Given the description of an element on the screen output the (x, y) to click on. 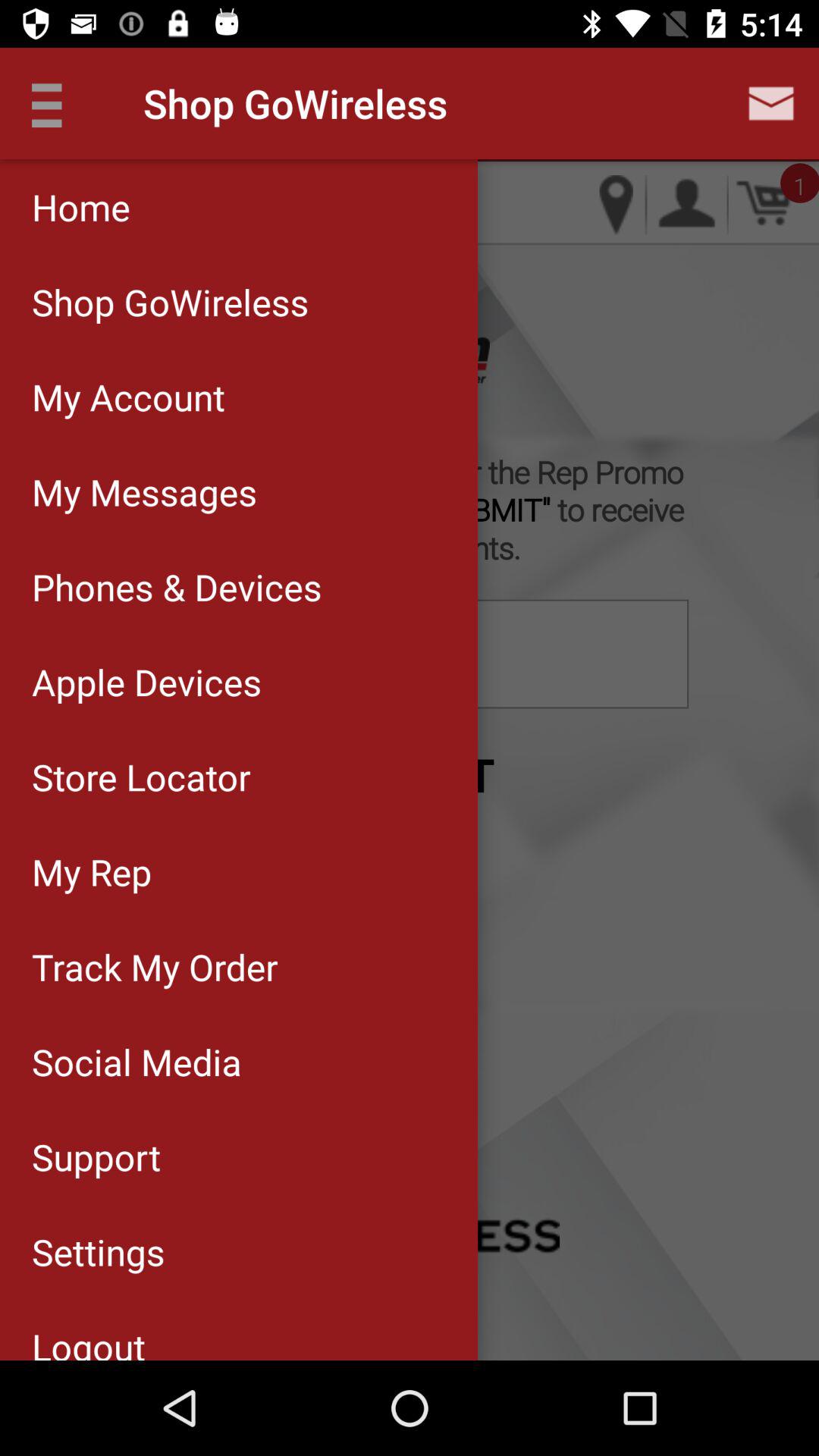
scroll to the apple devices icon (238, 681)
